Given the description of an element on the screen output the (x, y) to click on. 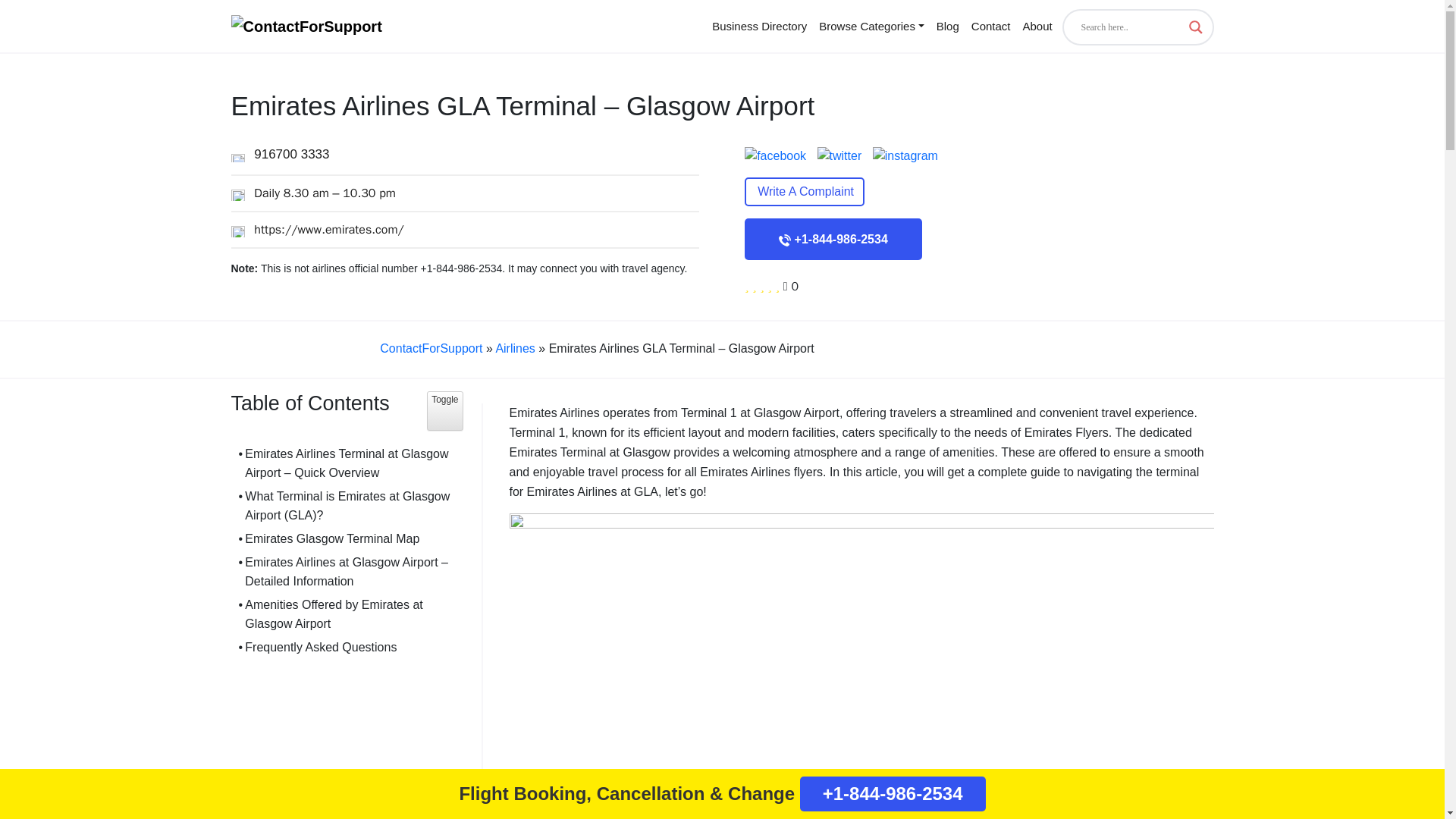
Amenities Offered by Emirates at Glasgow Airport  (346, 614)
Emirates Glasgow Terminal Map (328, 538)
Browse Categories (871, 25)
Business Directory (759, 25)
916700 3333 (279, 154)
Browse Categories (871, 25)
Contact (990, 25)
About (1037, 25)
About (1037, 25)
Business Directory (759, 25)
